Given the description of an element on the screen output the (x, y) to click on. 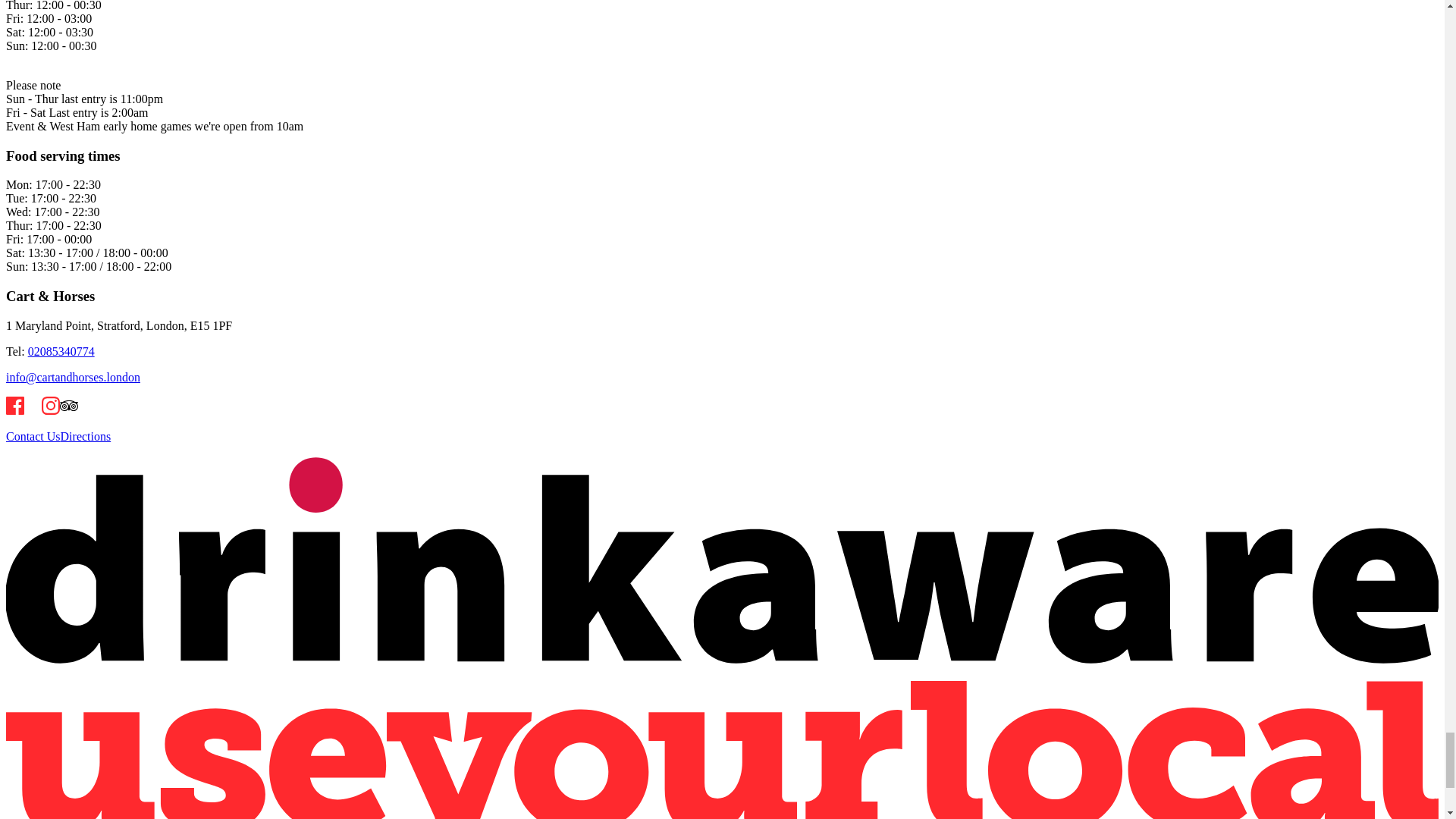
TripAdvisor (68, 410)
Instagram (50, 405)
Contact Us (33, 436)
Directions (86, 436)
02085340774 (60, 350)
TripAdvisor (68, 405)
Facebook (14, 410)
Facebook (14, 405)
Instagram (50, 410)
